Given the description of an element on the screen output the (x, y) to click on. 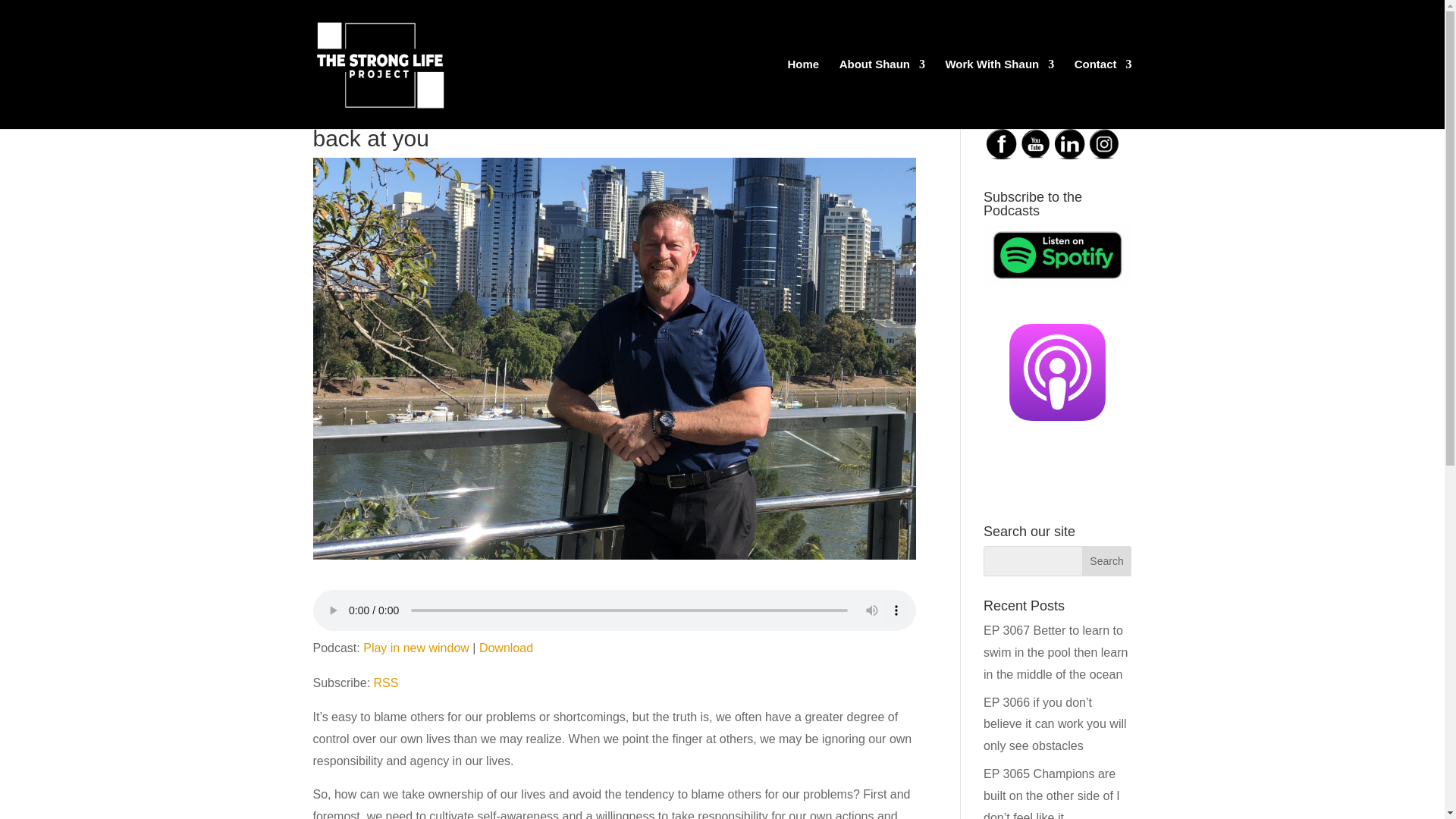
Play in new window (415, 647)
Play in new window (415, 647)
Subscribe via RSS (386, 682)
Work With Shaun (999, 93)
About Shaun (882, 93)
Instagram (1104, 143)
Download (505, 647)
Search (1106, 561)
LinkedIn (1069, 143)
Facebook (1001, 143)
RSS (386, 682)
Search (1106, 561)
Download (505, 647)
